Given the description of an element on the screen output the (x, y) to click on. 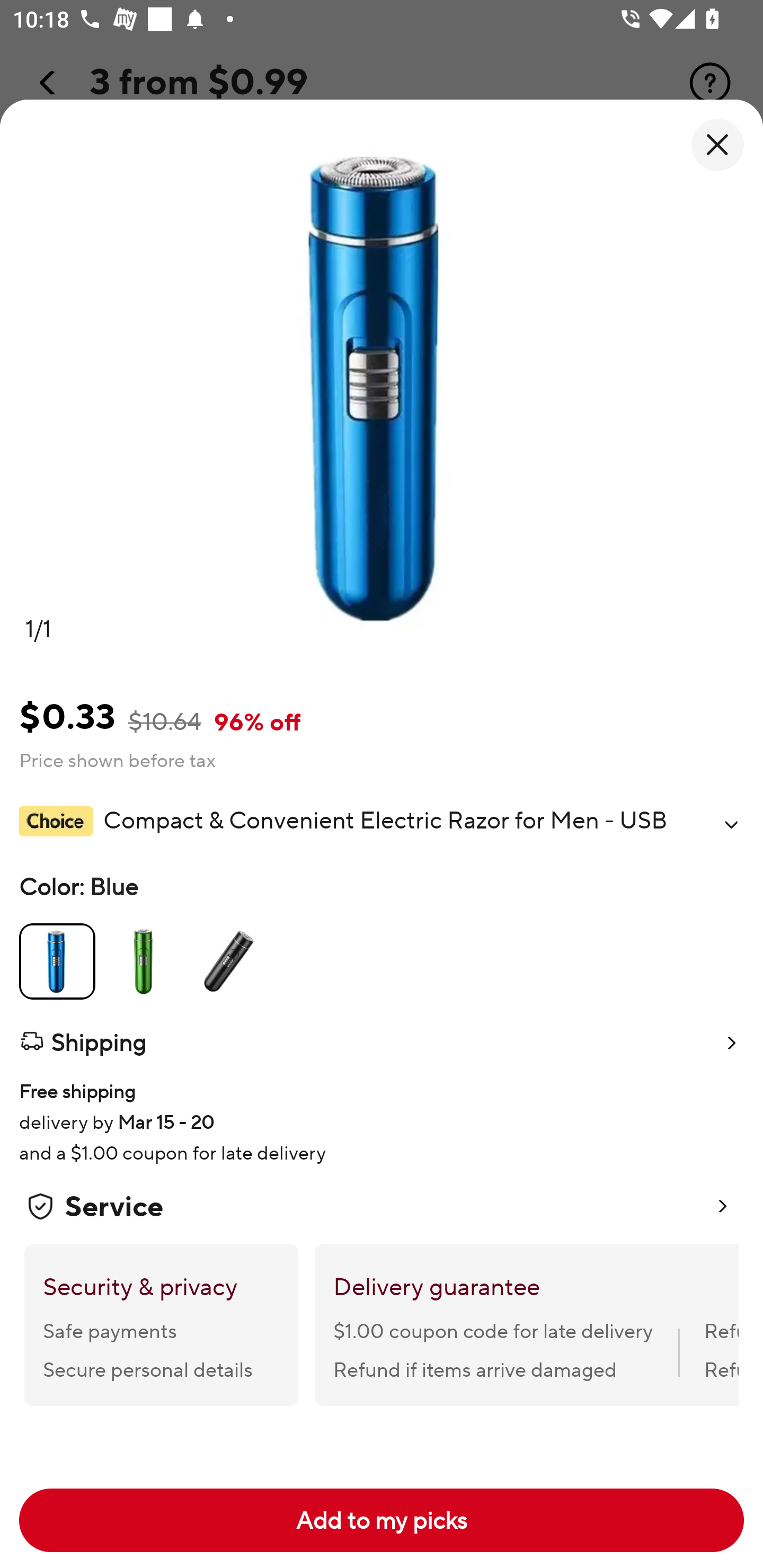
close  (717, 144)
 (730, 824)
Add to my picks (381, 1520)
